Given the description of an element on the screen output the (x, y) to click on. 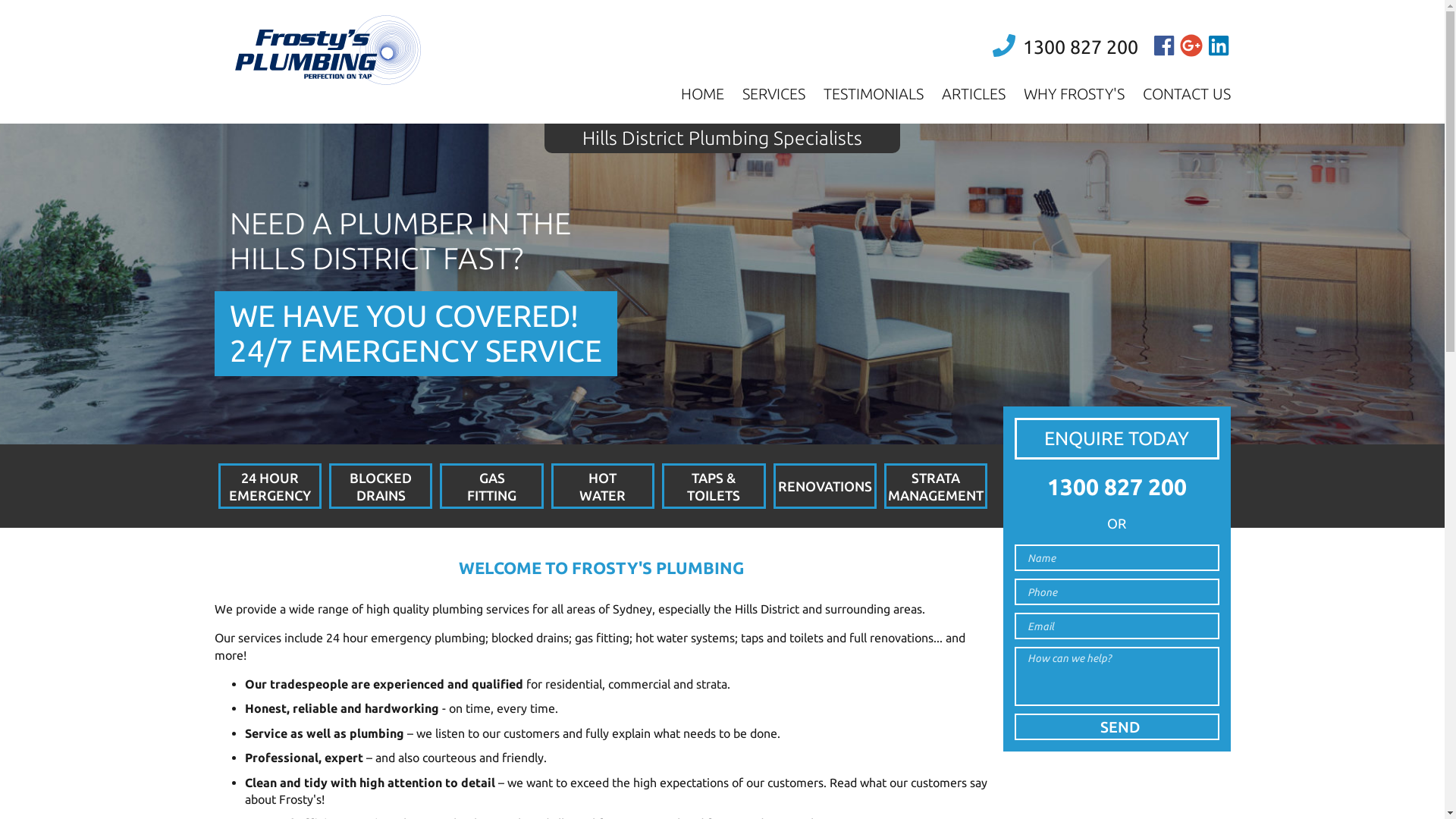
CONTACT US Element type: text (1186, 93)
HOME Element type: text (702, 93)
TESTIMONIALS Element type: text (873, 93)
send Element type: text (1116, 726)
ARTICLES Element type: text (973, 93)
SERVICES Element type: text (772, 93)
WHY FROSTY'S Element type: text (1073, 93)
